Given the description of an element on the screen output the (x, y) to click on. 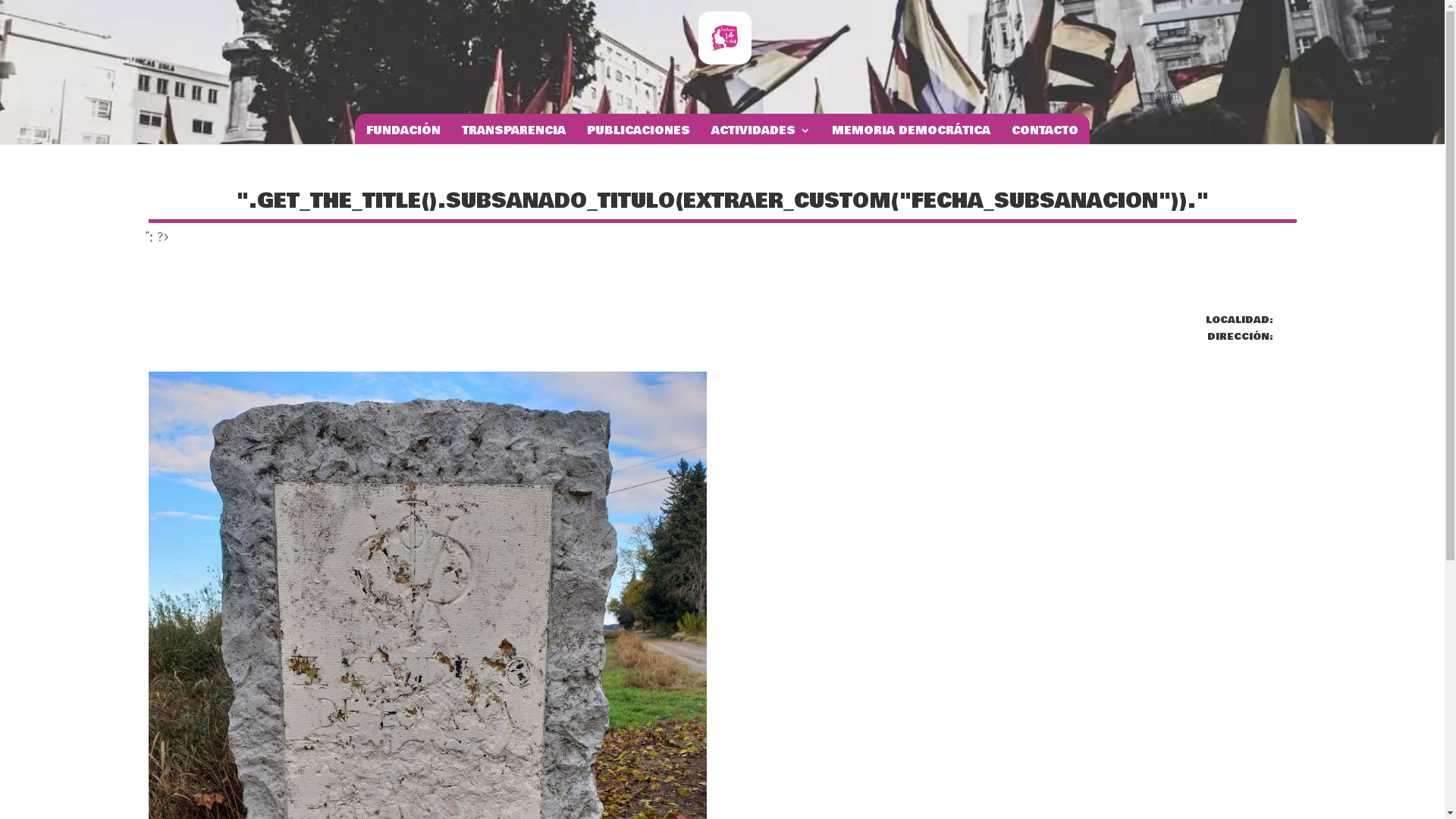
PUBLICACIONES Element type: text (638, 137)
TRANSPARENCIA Element type: text (513, 137)
ACTIVIDADES Element type: text (760, 137)
CONTACTO Element type: text (1044, 137)
